Given the description of an element on the screen output the (x, y) to click on. 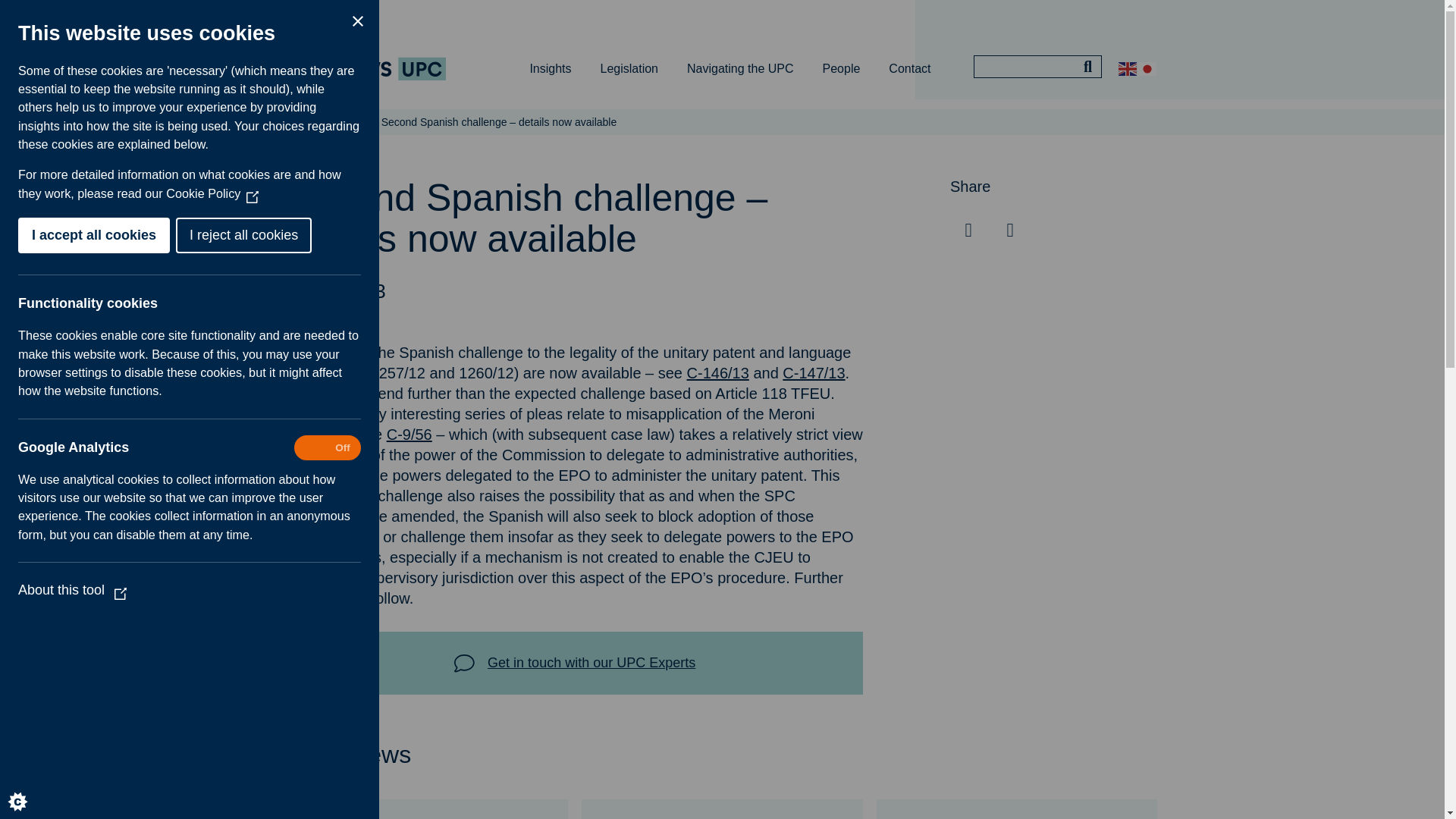
Insights (549, 68)
Search (1087, 66)
Japanese (1147, 67)
Cookie Control Icon (30, 788)
People (841, 68)
English (1127, 67)
Home (300, 121)
Get in touch with our UPC Experts (573, 662)
Search (1087, 66)
News (347, 121)
